Given the description of an element on the screen output the (x, y) to click on. 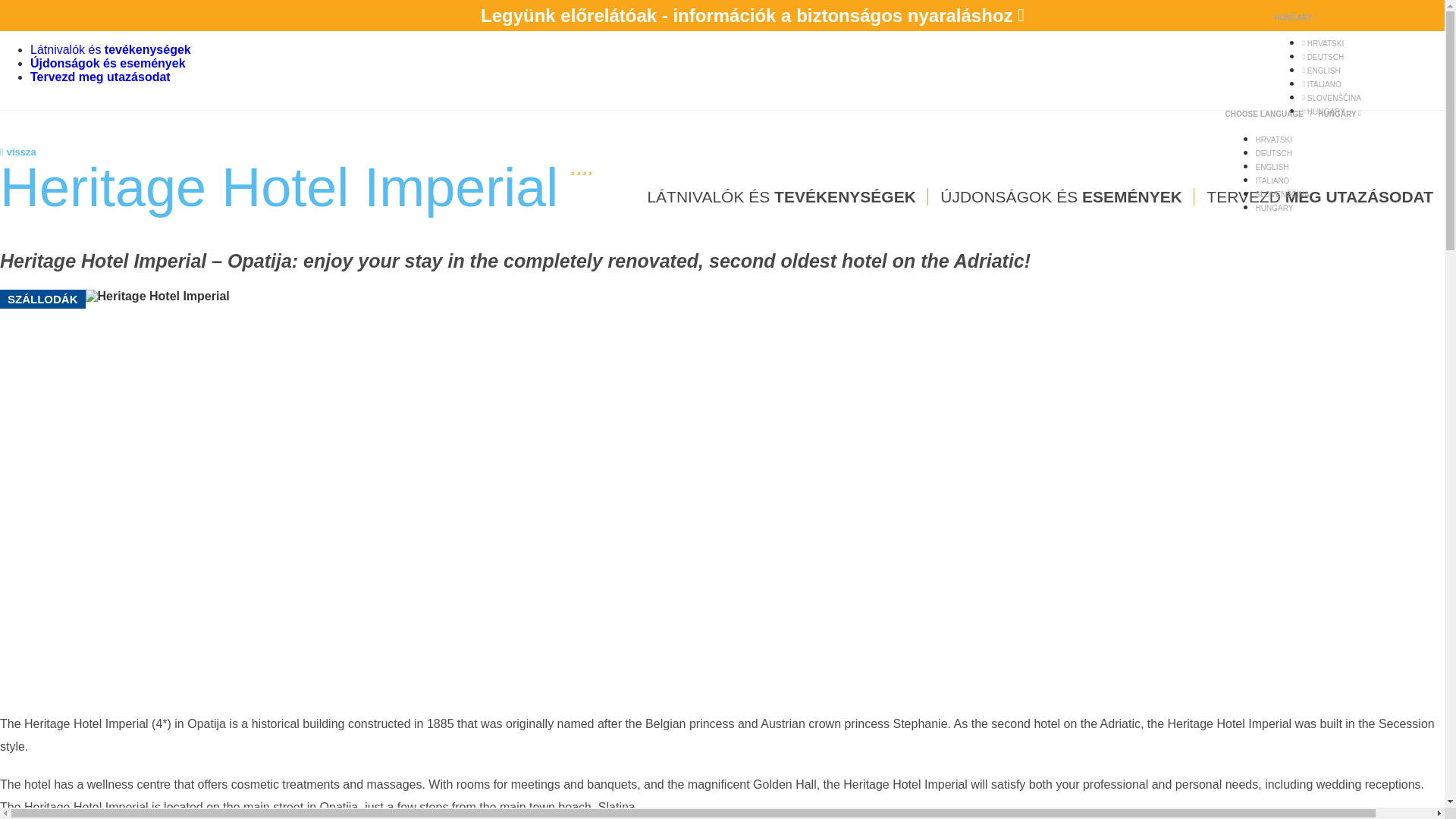
HRVATSKI (1322, 43)
HUNGARY (1322, 111)
DEUTSCH (1322, 57)
HUNGARY (1293, 17)
ENGLISH (1320, 70)
ITALIANO (1320, 84)
